Given the description of an element on the screen output the (x, y) to click on. 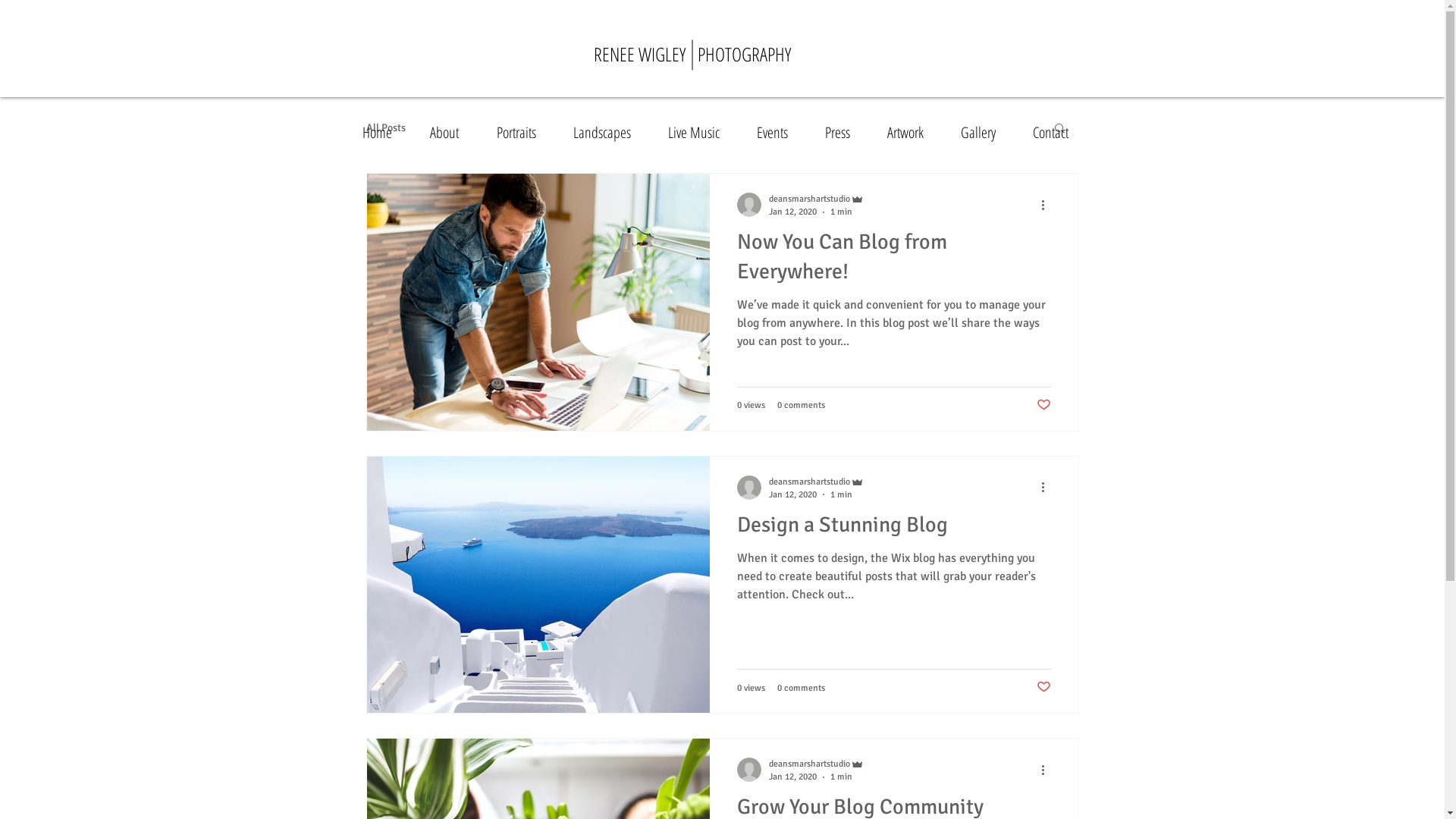
deansmarshartstudio Element type: text (816, 481)
Gallery Element type: text (985, 132)
About Element type: text (451, 132)
0 comments Element type: text (800, 687)
Post not marked as liked Element type: text (1042, 405)
deansmarshartstudio Element type: text (816, 198)
All Posts Element type: text (384, 127)
Post not marked as liked Element type: text (1042, 687)
0 comments Element type: text (800, 405)
Press Element type: text (843, 132)
Design a Stunning Blog Element type: text (894, 529)
Events Element type: text (778, 132)
Live Music Element type: text (700, 132)
Contact Element type: text (1056, 132)
deansmarshartstudio Element type: text (816, 763)
Artwork Element type: text (911, 132)
Portraits Element type: text (523, 132)
Landscapes Element type: text (608, 132)
Now You Can Blog from Everywhere! Element type: text (894, 260)
Home Element type: text (383, 132)
